Given the description of an element on the screen output the (x, y) to click on. 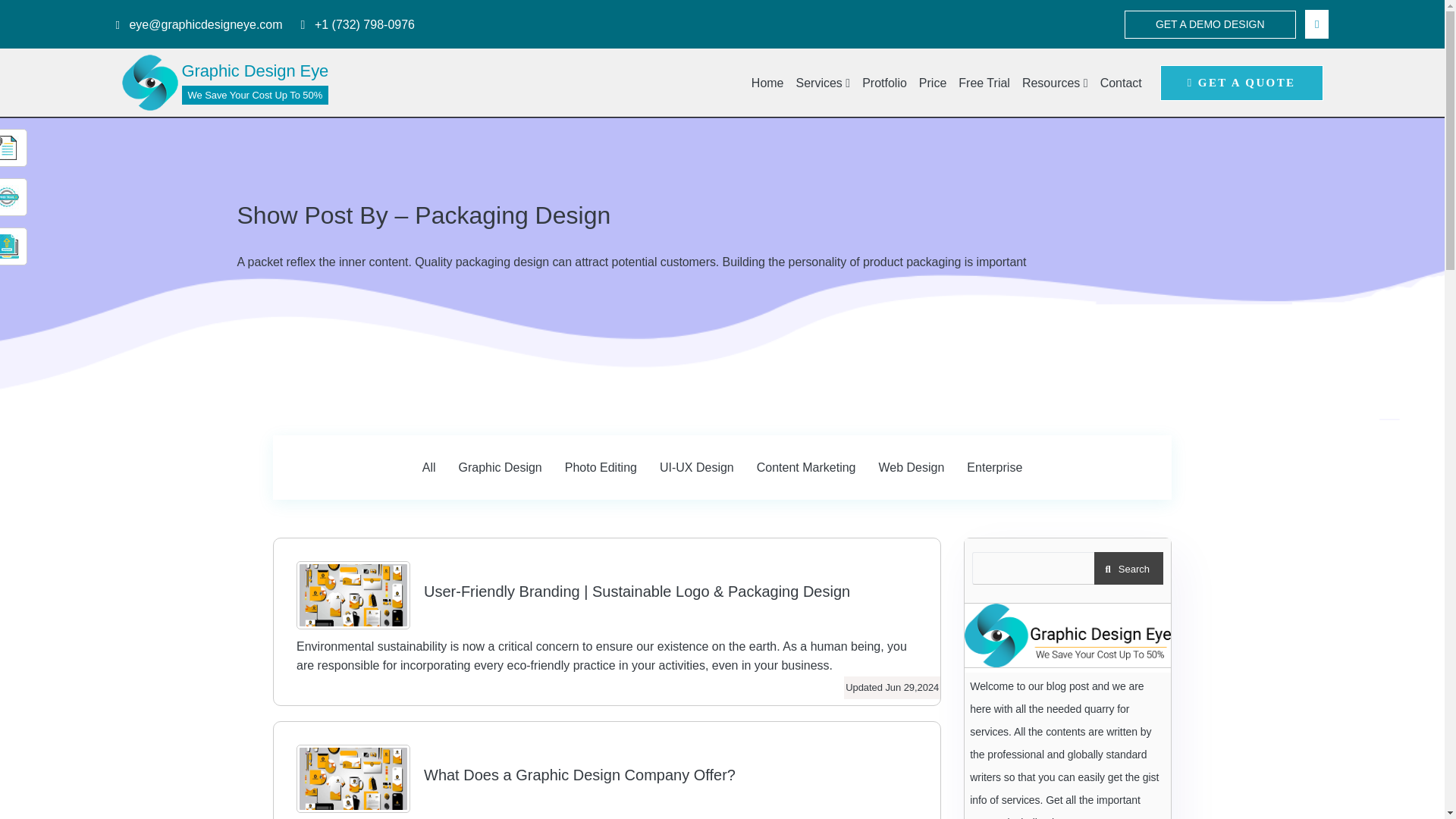
Graphic Design Provider (1066, 635)
GET A DEMO DESIGN (1209, 24)
Get Quote (9, 146)
Graphic Design Eye (149, 82)
Free Trial (9, 195)
Upload (9, 245)
